Given the description of an element on the screen output the (x, y) to click on. 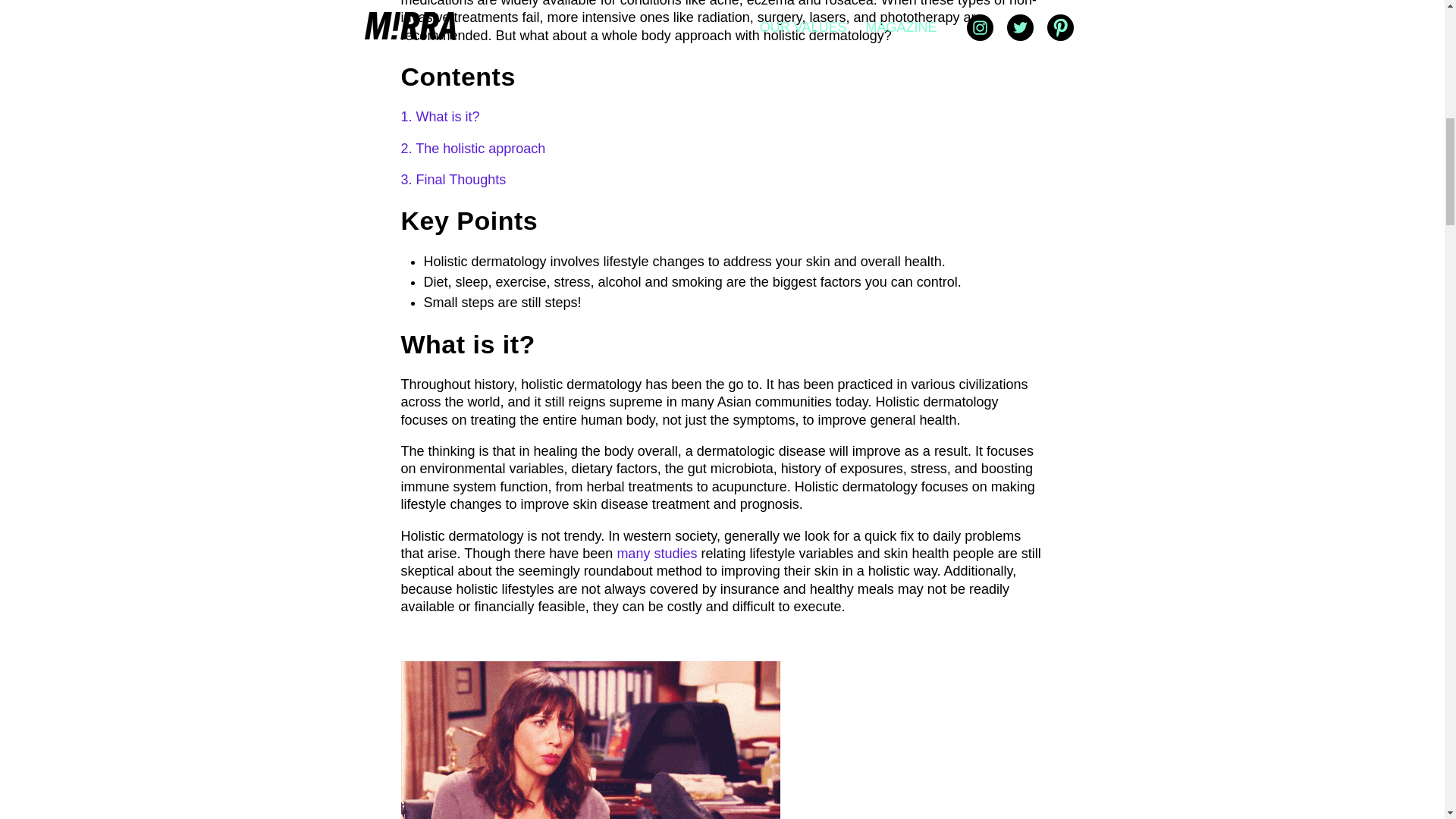
3. Final Thoughts (452, 179)
many studies (656, 553)
1. What is it? (439, 116)
2. The holistic approach (472, 148)
